Given the description of an element on the screen output the (x, y) to click on. 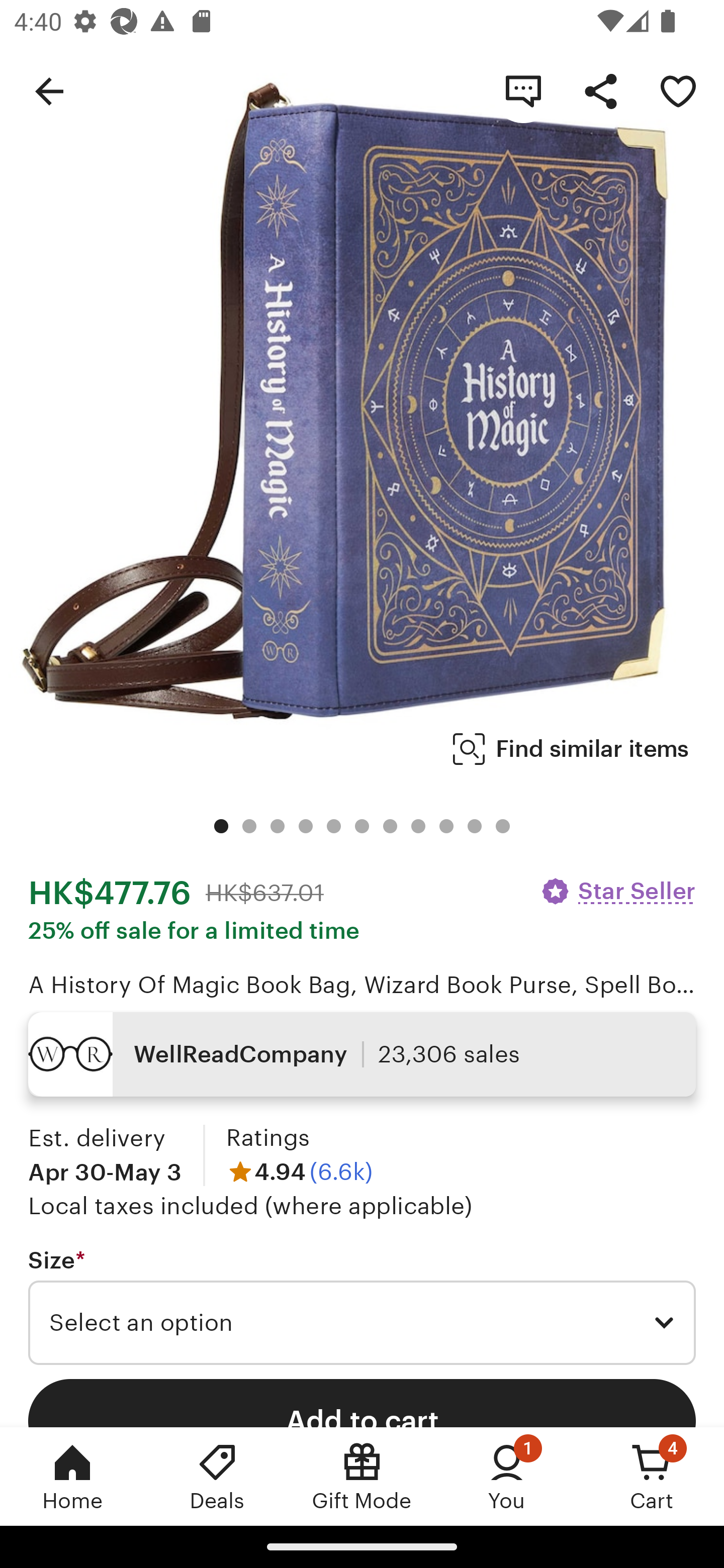
Navigate up (49, 90)
Contact shop (523, 90)
Share (600, 90)
Find similar items (571, 748)
Star Seller (617, 890)
WellReadCompany 23,306 sales (361, 1054)
Ratings (267, 1137)
4.94 (6.6k) (298, 1171)
Size * Required Select an option (361, 1306)
Select an option (361, 1323)
Add to cart (361, 1402)
Deals (216, 1475)
Gift Mode (361, 1475)
You, 1 new notification You (506, 1475)
Cart, 4 new notifications Cart (651, 1475)
